Given the description of an element on the screen output the (x, y) to click on. 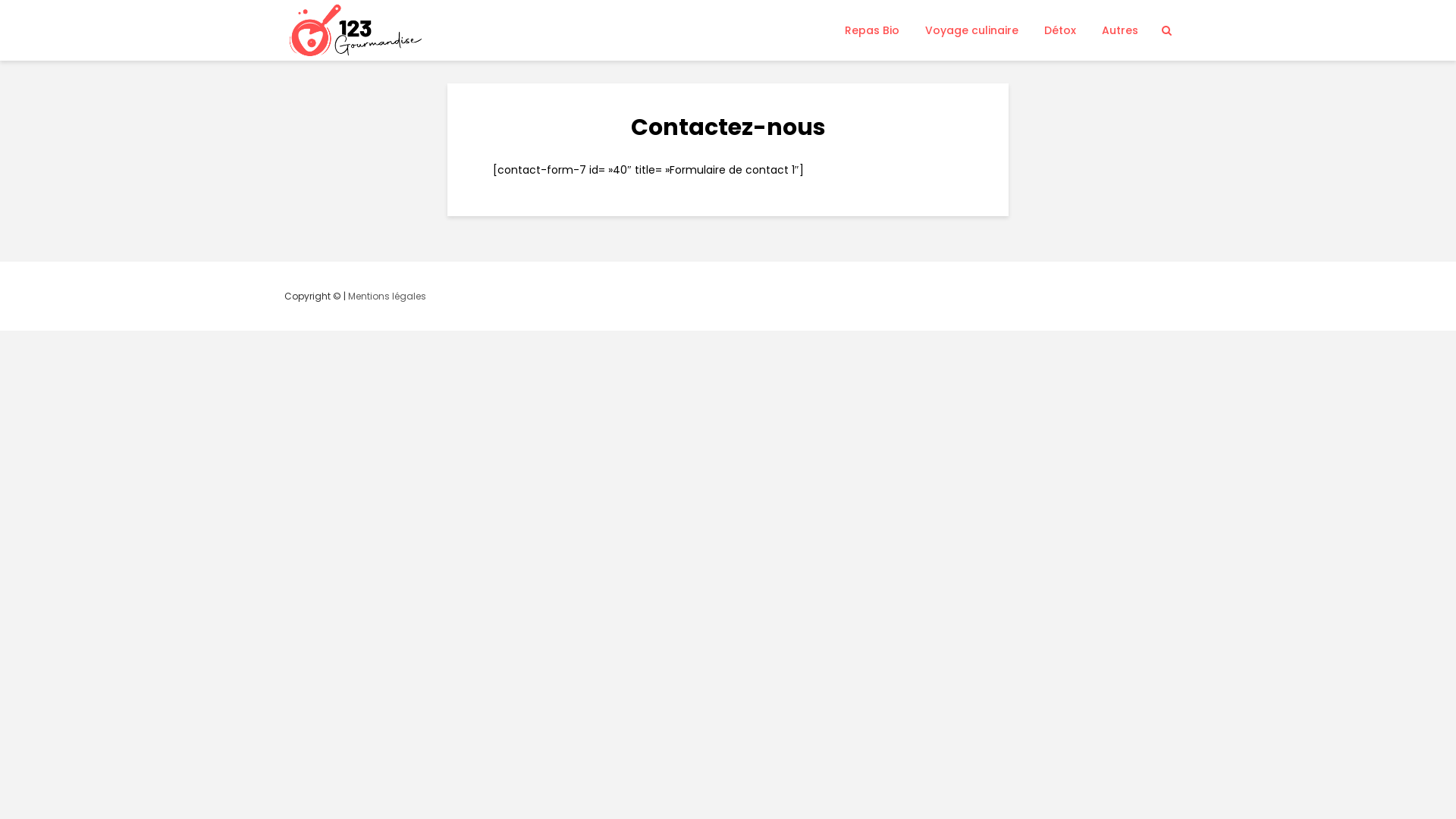
Autres Element type: text (1119, 30)
Voyage culinaire Element type: text (971, 30)
Repas Bio Element type: text (871, 30)
